Given the description of an element on the screen output the (x, y) to click on. 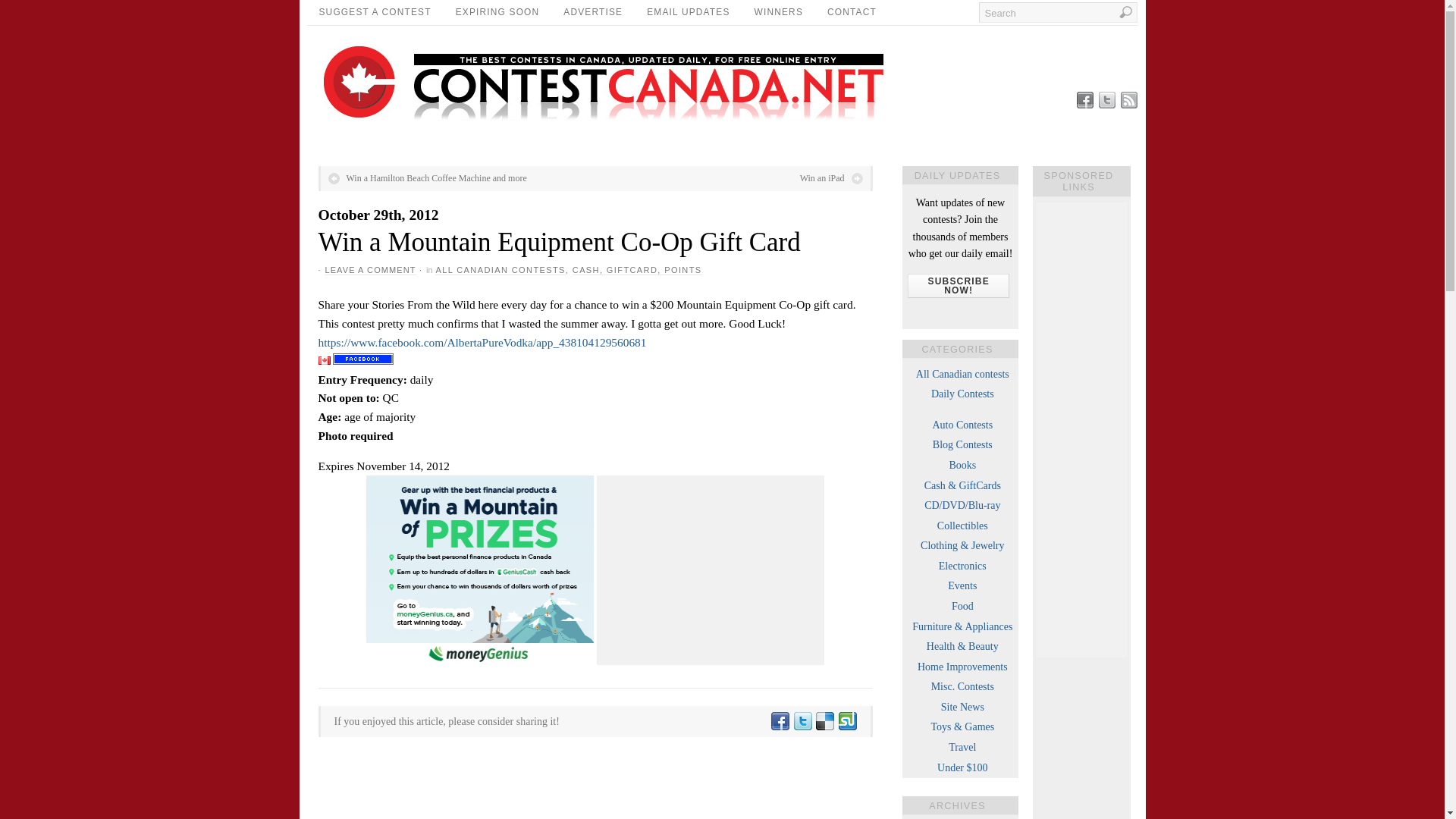
Canadian contests that can be entered every day. (962, 393)
Canadian contests and sweepstakes with cash prizes. (962, 485)
Canadian contests for automobiles (961, 424)
For Book Contests in Canada (962, 464)
Misc. Contests (962, 686)
Contest Canada .net (621, 116)
Share on Delicious (823, 721)
Search (1057, 12)
Collectibles (962, 525)
CONTACT (851, 12)
Share on Twitter (801, 721)
Contests run by bloggers. (962, 444)
SUBSCRIBE NOW! (958, 285)
CASH, GIFTCARD, POINTS (636, 270)
EXPIRING SOON (497, 12)
